Given the description of an element on the screen output the (x, y) to click on. 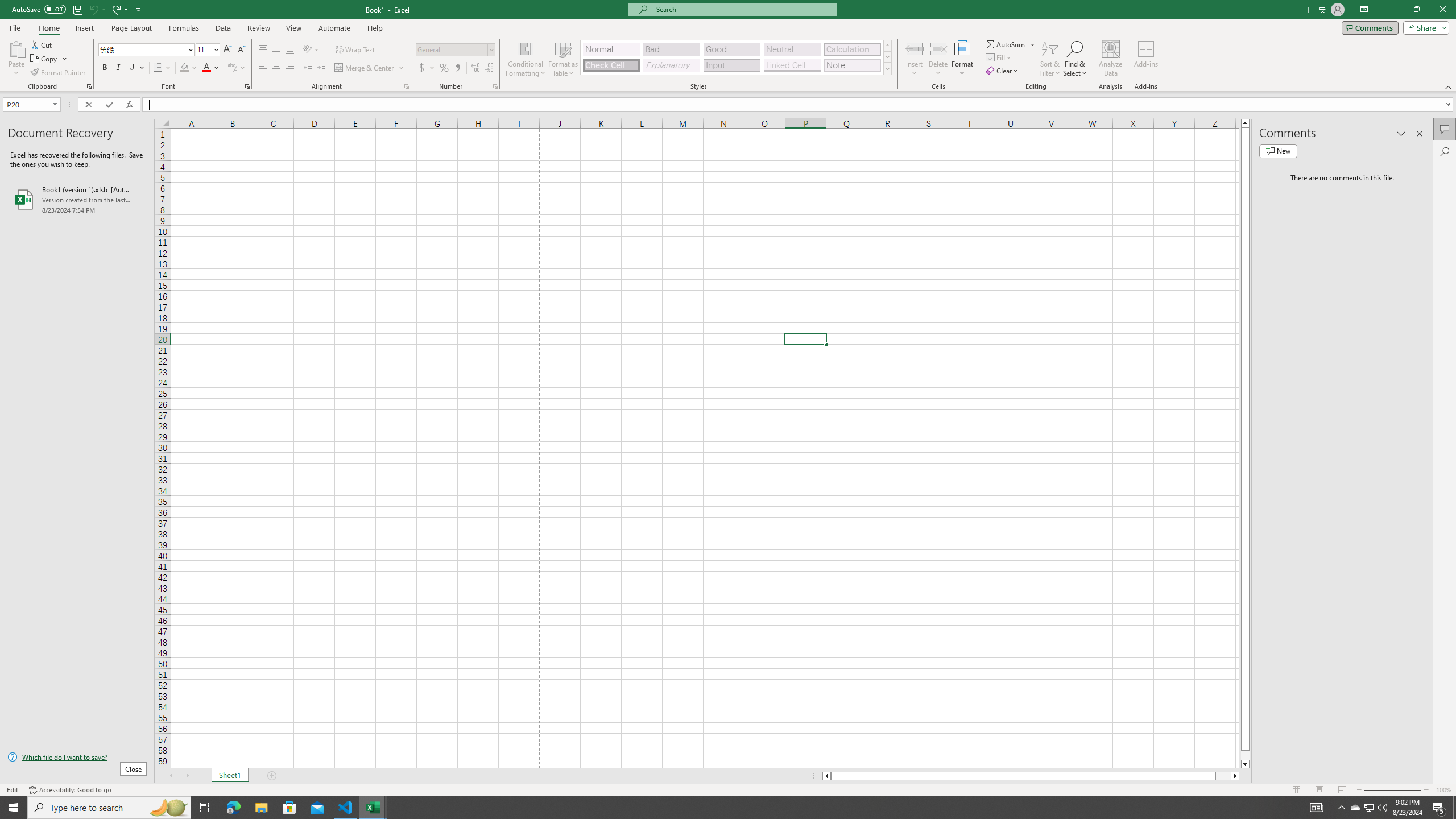
Copy (45, 58)
Increase Indent (320, 67)
Fill Color (188, 67)
Accounting Number Format (422, 67)
Middle Align (276, 49)
Ribbon Display Options (1364, 9)
Class: NetUIImage (887, 68)
Office Clipboard... (88, 85)
Percent Style (443, 67)
Comma Style (457, 67)
Font (147, 49)
Merge & Center (369, 67)
Formulas (184, 28)
Format Cell Font (247, 85)
Cell Styles (887, 68)
